Given the description of an element on the screen output the (x, y) to click on. 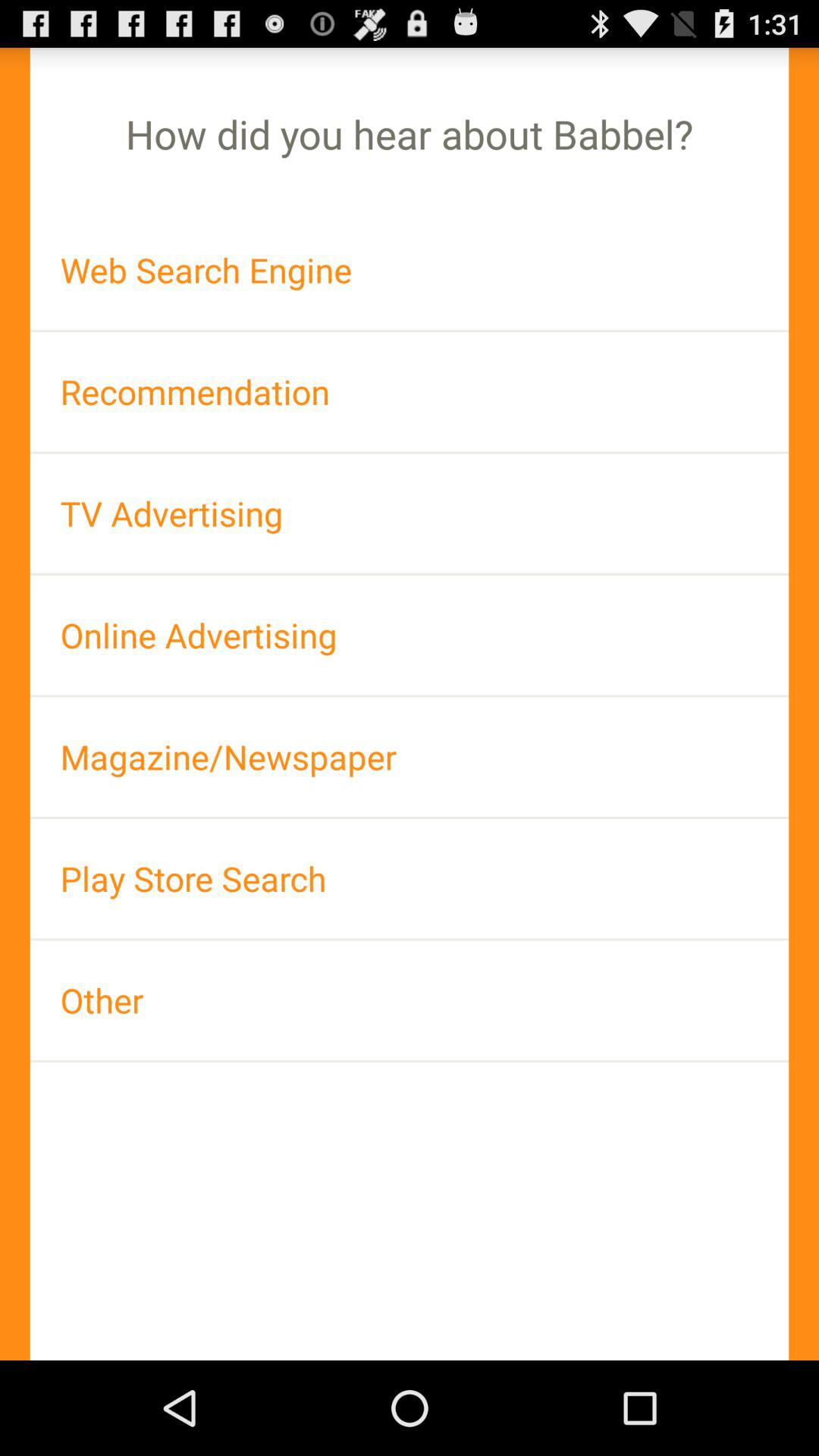
select the play store search icon (409, 878)
